Given the description of an element on the screen output the (x, y) to click on. 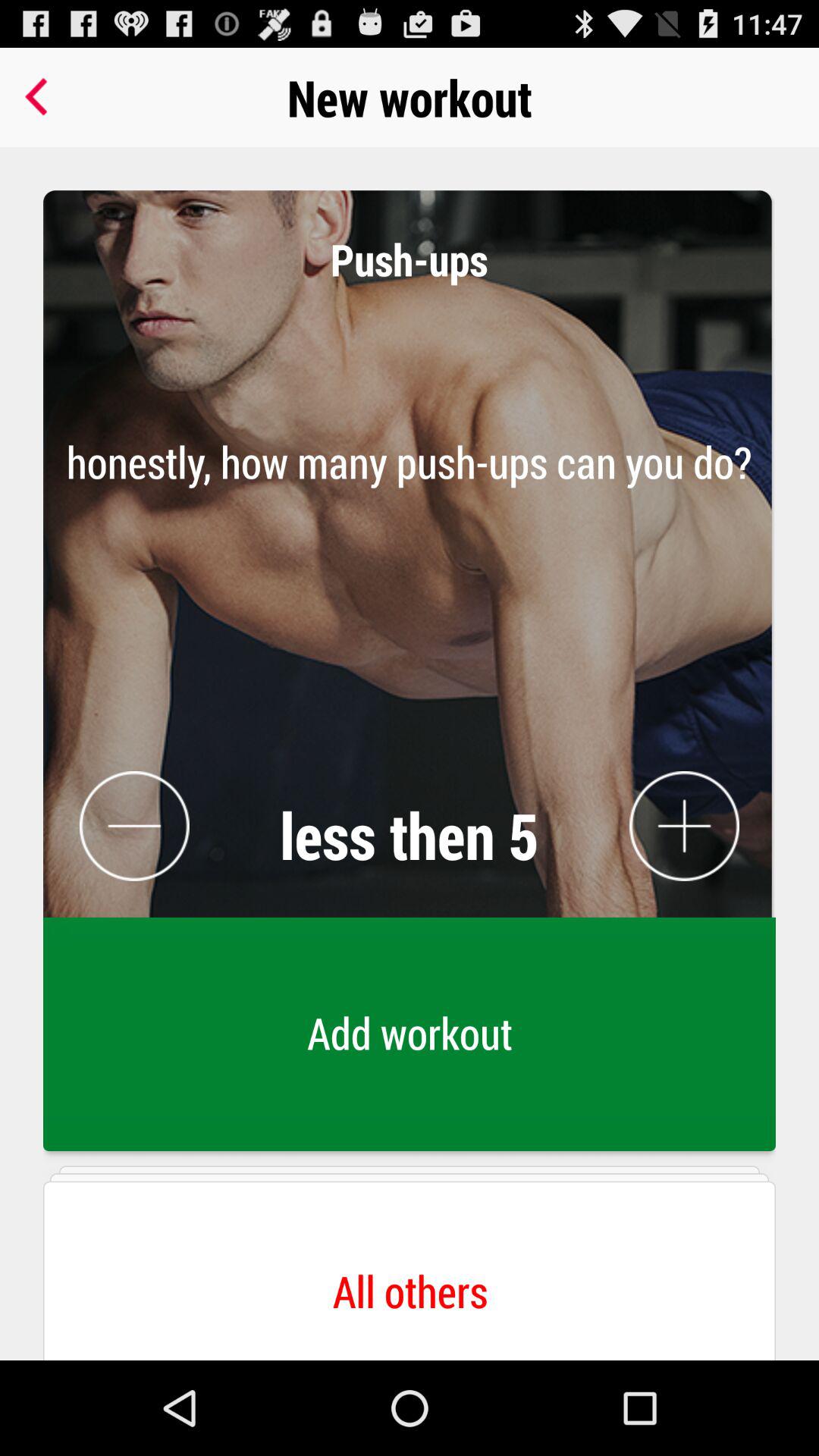
click add workout icon (409, 1038)
